Given the description of an element on the screen output the (x, y) to click on. 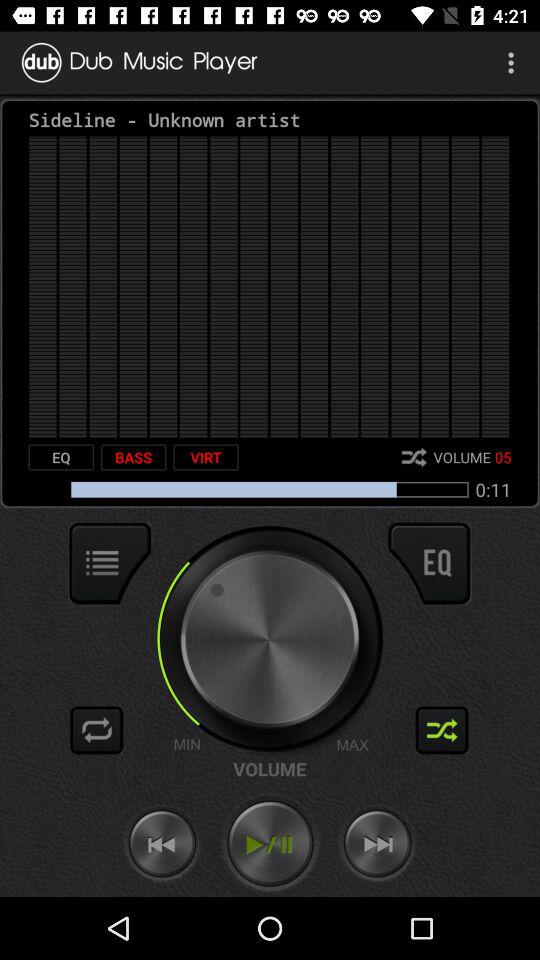
adjust eq (429, 563)
